Given the description of an element on the screen output the (x, y) to click on. 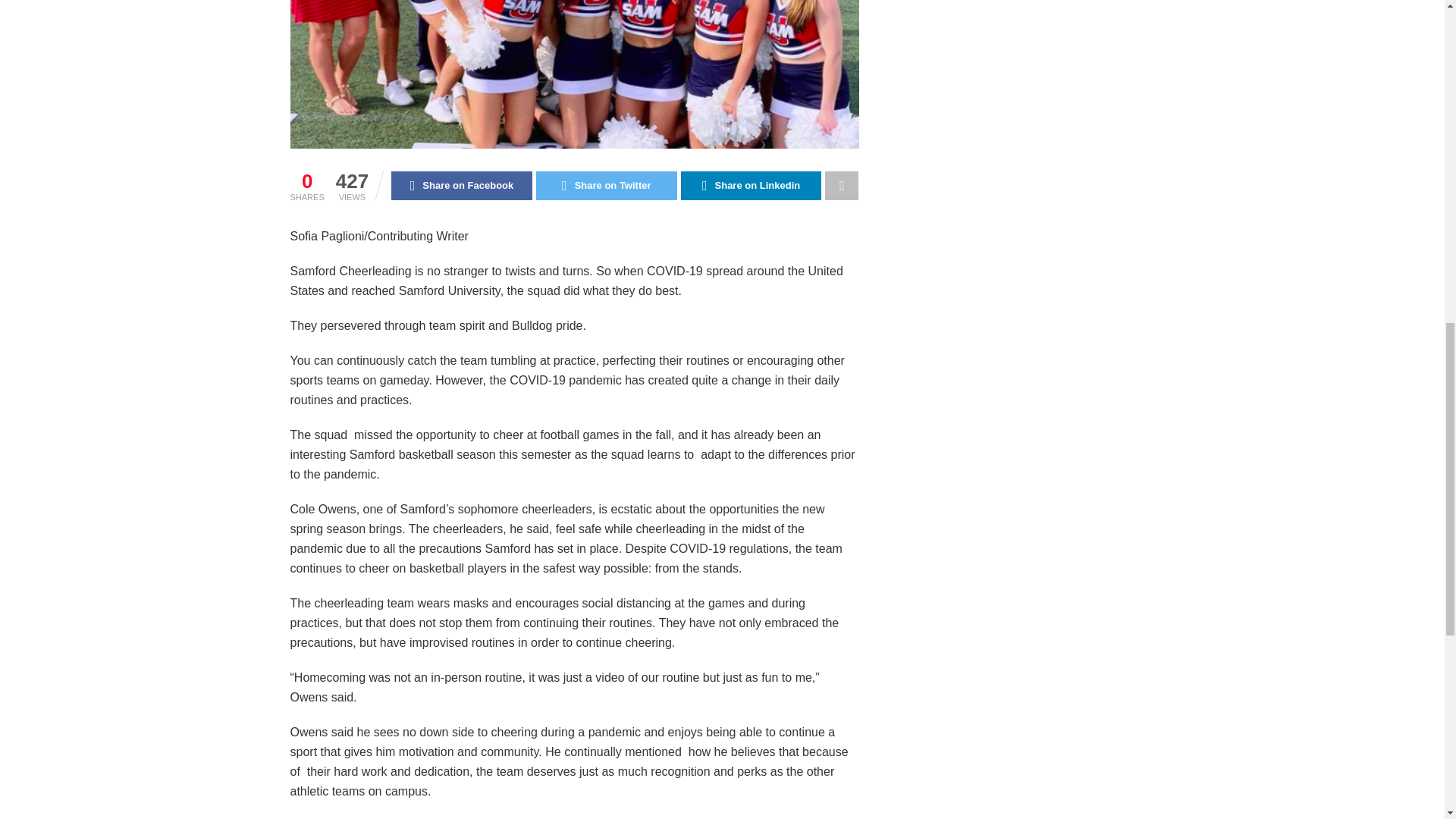
Share on Facebook (461, 185)
Share on Linkedin (751, 185)
Share on Twitter (606, 185)
